Given the description of an element on the screen output the (x, y) to click on. 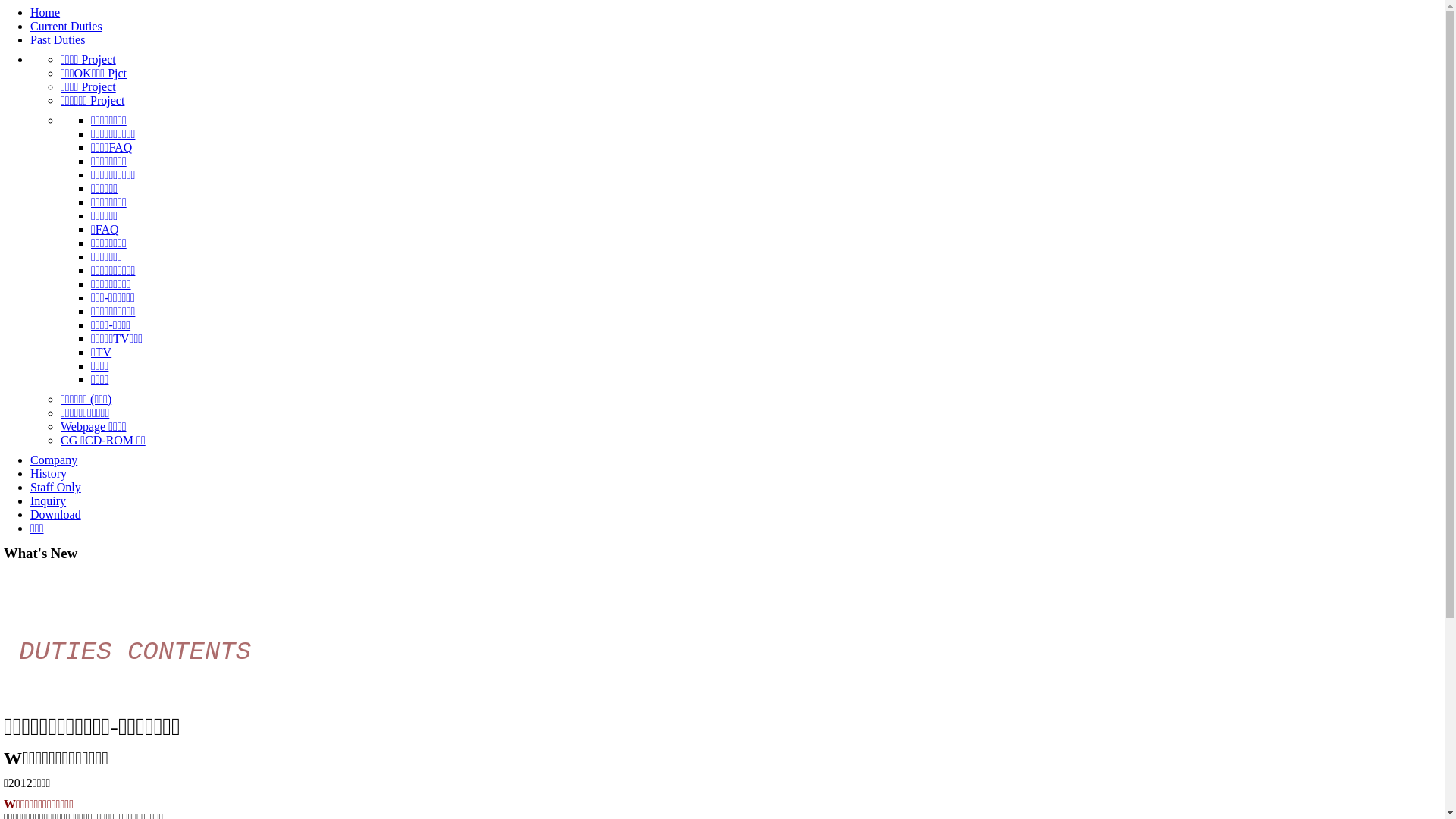
Staff Only Element type: text (55, 486)
Company Element type: text (53, 459)
Past Duties Element type: text (57, 39)
Current Duties Element type: text (66, 25)
Inquiry Element type: text (47, 500)
Download Element type: text (55, 514)
Home Element type: text (44, 12)
History Element type: text (48, 473)
